Given the description of an element on the screen output the (x, y) to click on. 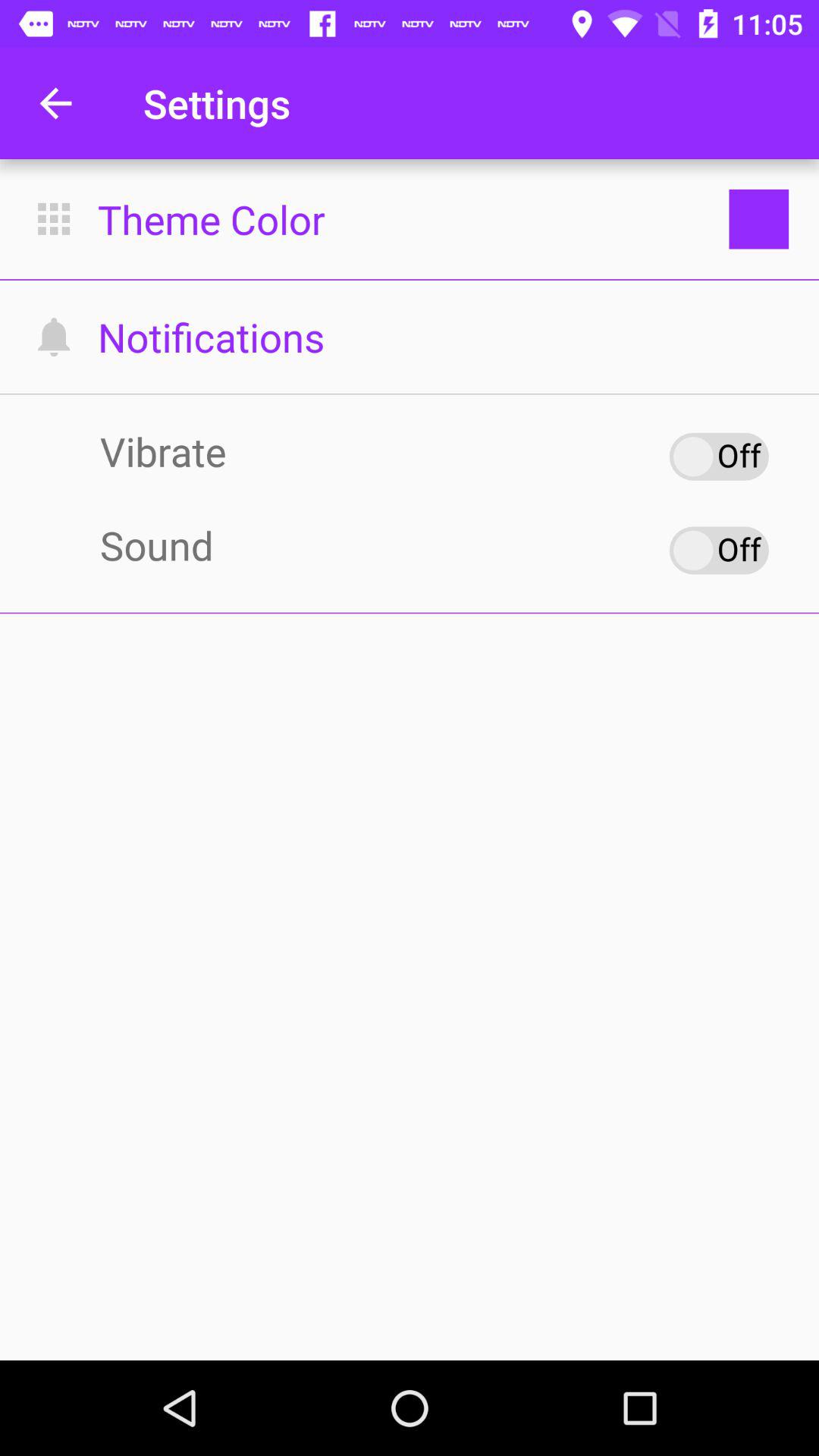
toggle sound option (718, 550)
